Given the description of an element on the screen output the (x, y) to click on. 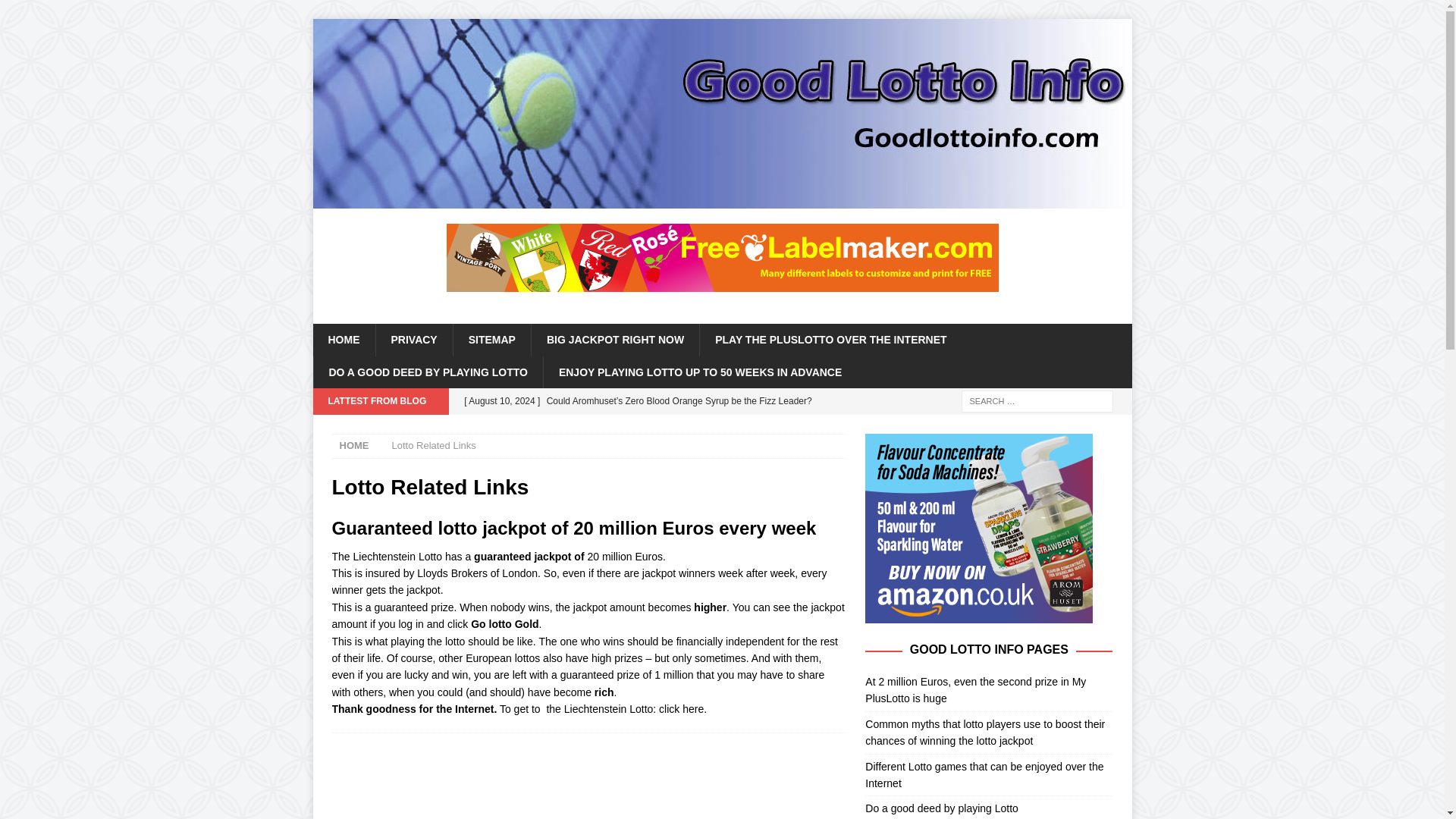
SITEMAP (491, 339)
Liechtenstein Lotto (608, 708)
Guaranteed lotto jackpot of 20 million Euros every week (573, 527)
Do a good deed by playing Lotto (988, 807)
ENJOY PLAYING LOTTO UP TO 50 WEEKS IN ADVANCE (700, 372)
Guaranteed lotto jackpot of 20 million Euros every week (573, 527)
Make your own full colour labels (721, 257)
Goodlottoinfo (722, 200)
